Given the description of an element on the screen output the (x, y) to click on. 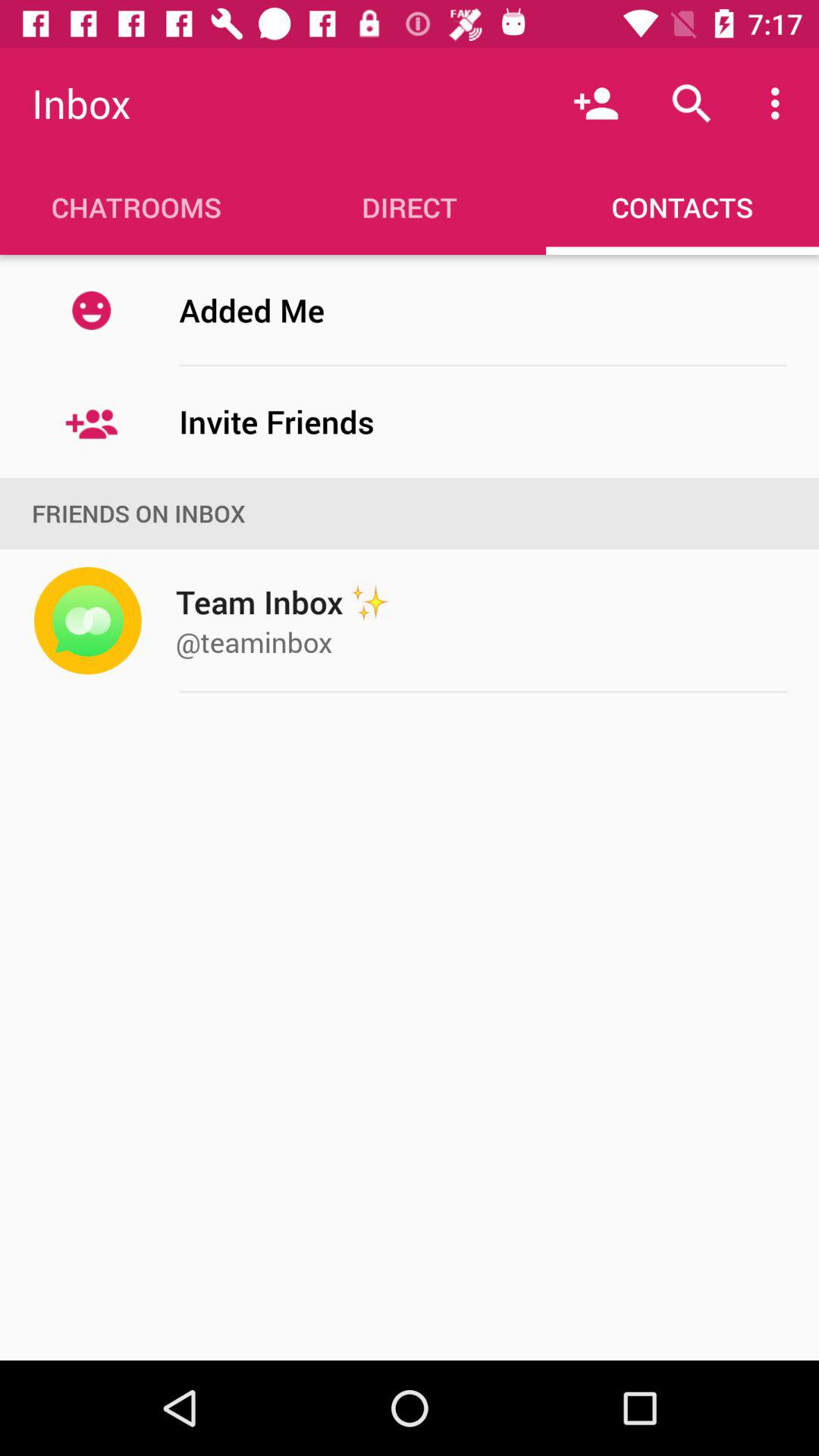
click on the last button in the menu bar (682, 206)
click on the button next to search icon (779, 103)
click on the smiley icon (91, 309)
click on the search icon (691, 103)
